Given the description of an element on the screen output the (x, y) to click on. 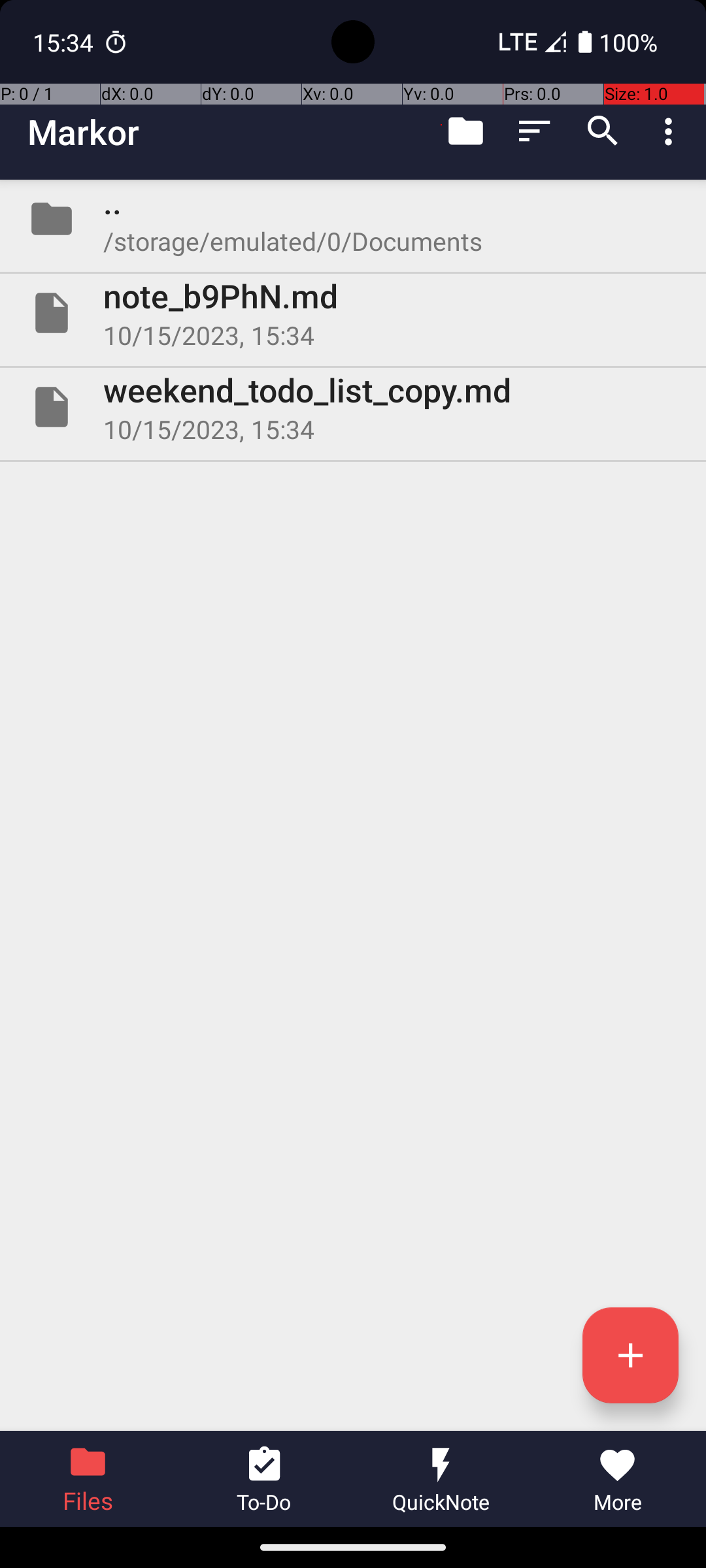
File note_b9PhN.md  Element type: android.widget.LinearLayout (353, 312)
File weekend_todo_list_copy.md  Element type: android.widget.LinearLayout (353, 406)
